Given the description of an element on the screen output the (x, y) to click on. 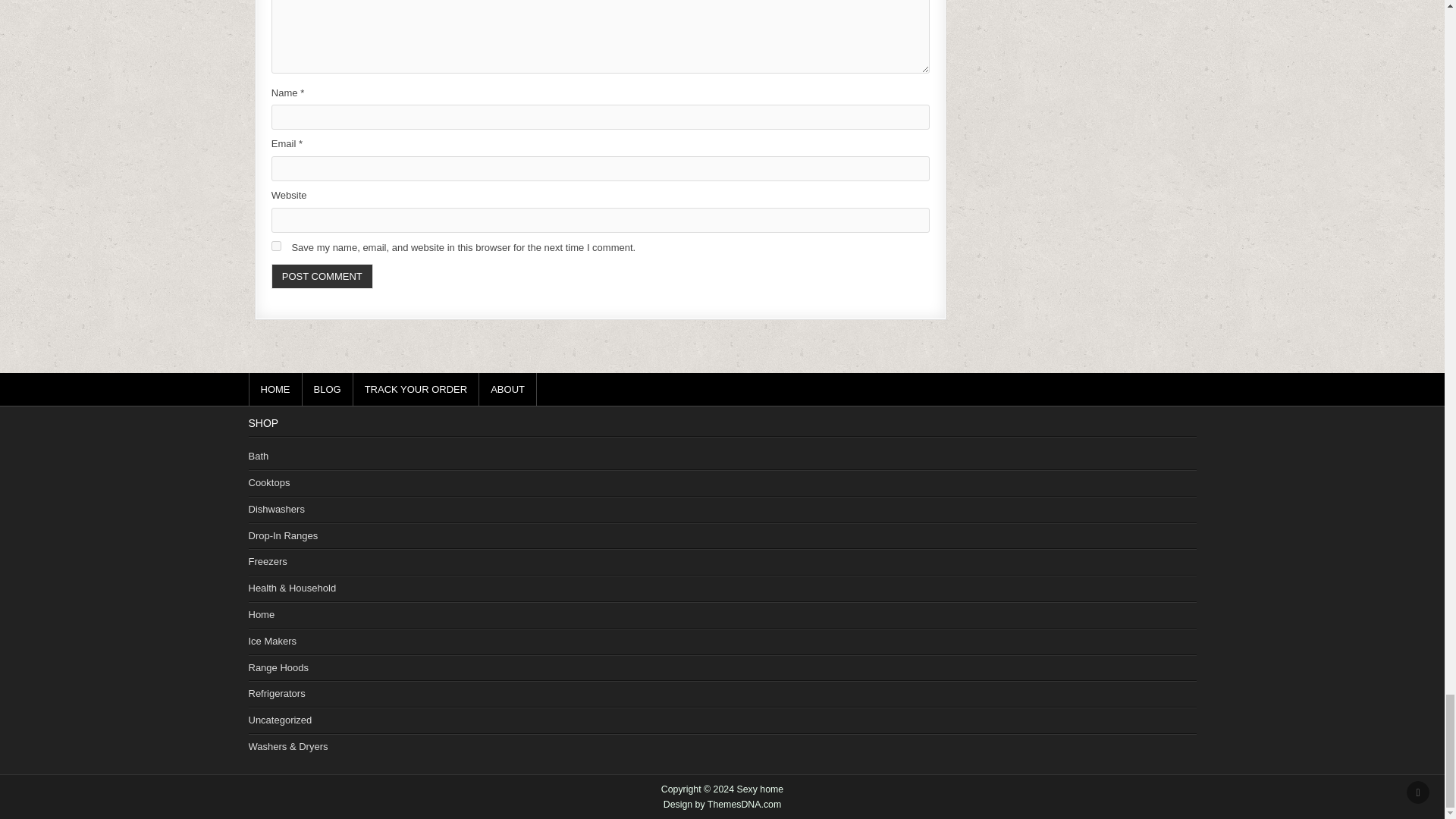
BLOG (326, 389)
Bath (258, 455)
HOME (275, 389)
Post Comment (321, 276)
TRACK YOUR ORDER (416, 389)
Drop-In Ranges (283, 535)
yes (275, 245)
Cooktops (268, 482)
Dishwashers (276, 509)
ABOUT (508, 389)
